Given the description of an element on the screen output the (x, y) to click on. 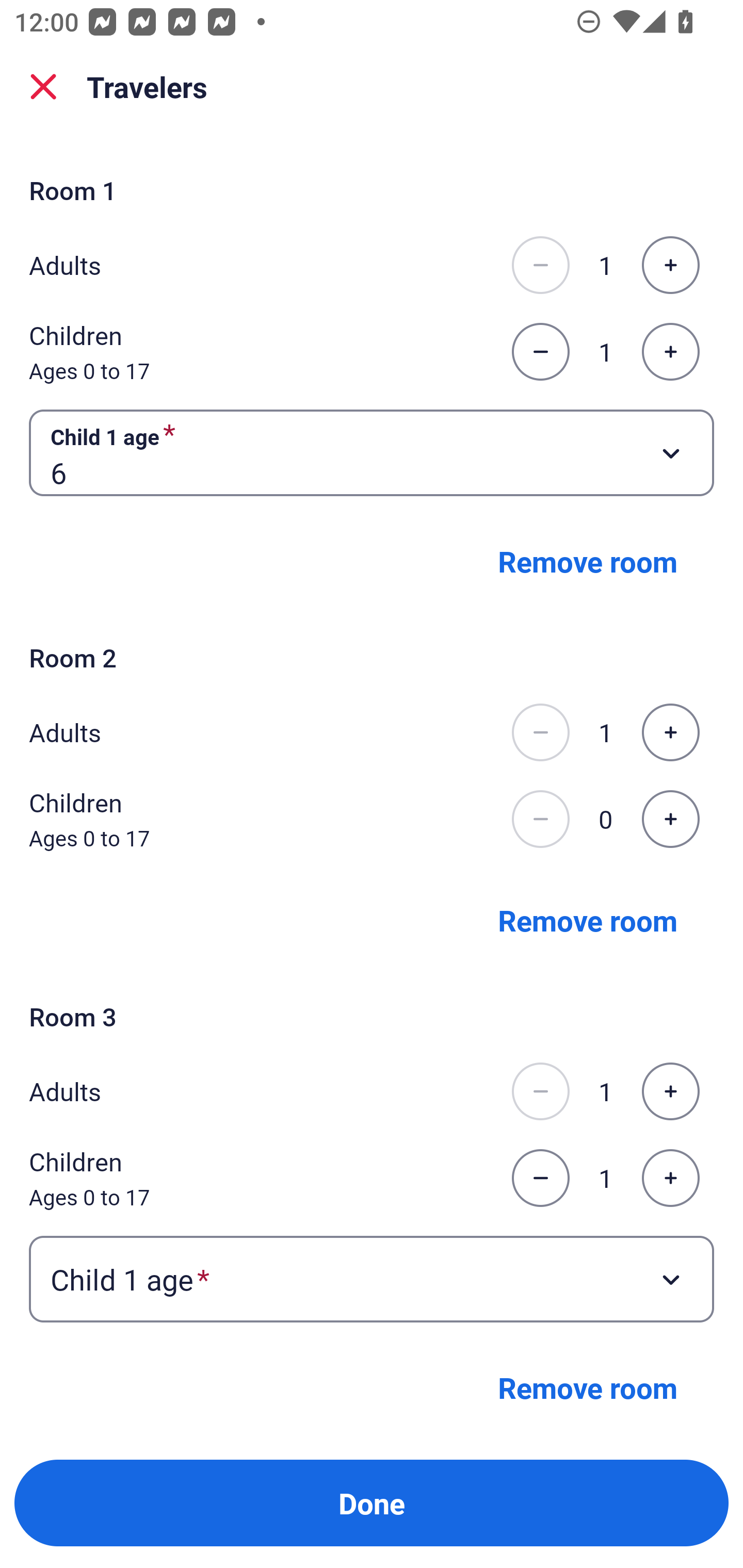
close (43, 86)
Decrease the number of adults (540, 264)
Increase the number of adults (670, 264)
Decrease the number of children (540, 351)
Increase the number of children (670, 351)
Child 1 age required Button 6 (371, 452)
Remove room (588, 561)
Decrease the number of adults (540, 732)
Increase the number of adults (670, 732)
Decrease the number of children (540, 819)
Increase the number of children (670, 819)
Remove room (588, 919)
Decrease the number of adults (540, 1091)
Increase the number of adults (670, 1091)
Decrease the number of children (540, 1178)
Increase the number of children (670, 1178)
Child 1 age required Button (371, 1278)
Remove room (588, 1386)
Done (371, 1502)
